Given the description of an element on the screen output the (x, y) to click on. 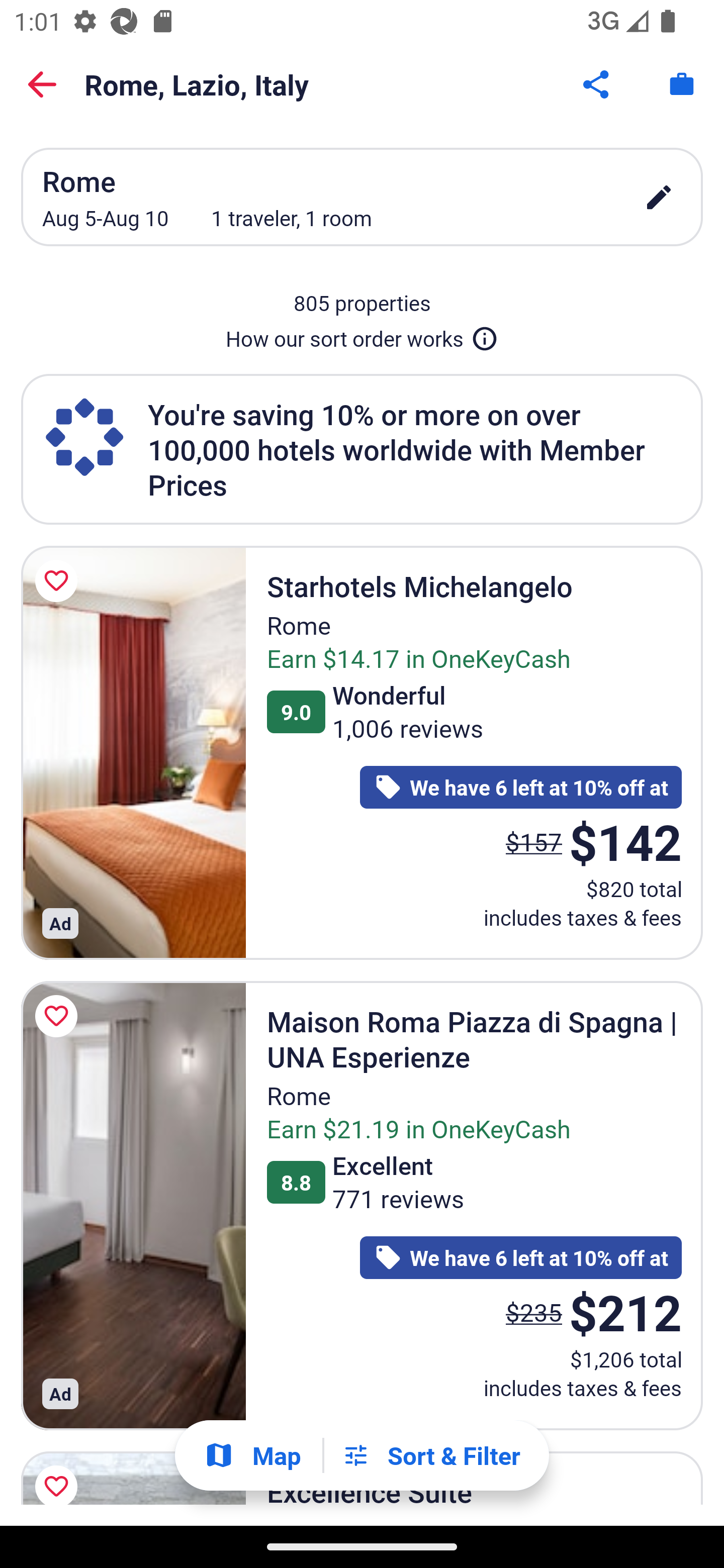
Back (42, 84)
Share Button (597, 84)
Trips. Button (681, 84)
Rome Aug 5-Aug 10 1 traveler, 1 room edit (361, 196)
How our sort order works (361, 334)
Save Starhotels Michelangelo to a trip (59, 580)
Starhotels Michelangelo (133, 752)
$157 The price was $157 (533, 841)
Maison Roma Piazza di Spagna | UNA Esperienze (133, 1205)
$235 The price was $235 (533, 1312)
Filters Sort & Filter Filters Button (430, 1455)
Show map Map Show map Button (252, 1455)
